Given the description of an element on the screen output the (x, y) to click on. 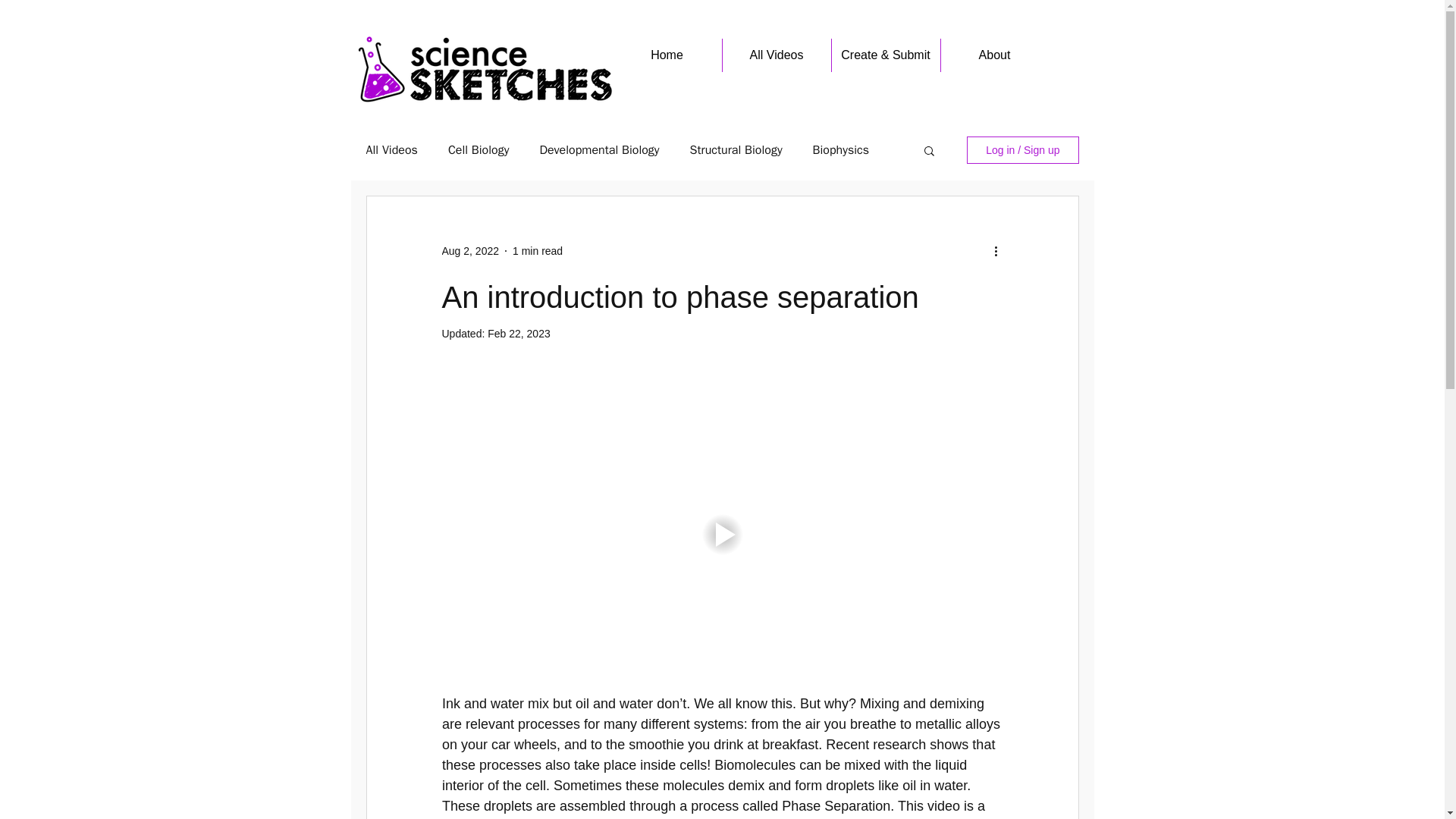
Home (667, 55)
About (994, 55)
All Videos (775, 55)
Aug 2, 2022 (470, 250)
Structural Biology (736, 150)
1 min read (537, 250)
Developmental Biology (598, 150)
Cell Biology (478, 150)
All Videos (390, 150)
Biophysics (840, 150)
